Given the description of an element on the screen output the (x, y) to click on. 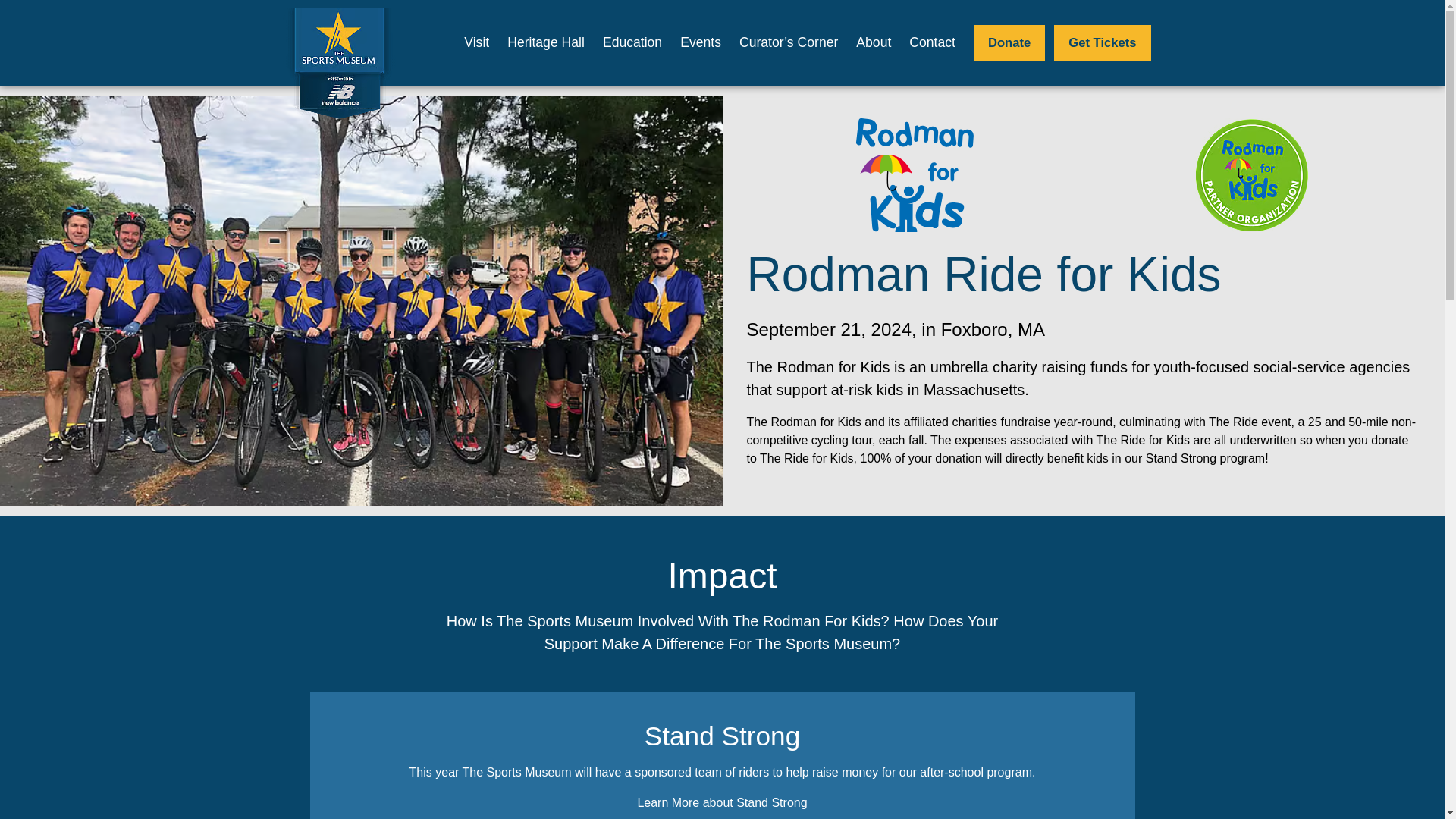
Education (632, 42)
Get Tickets (1102, 42)
Rodman Ride Logo (915, 174)
About (873, 42)
Heritage Hall (545, 42)
Contact (931, 42)
Events (699, 42)
Donate (1008, 42)
